Given the description of an element on the screen output the (x, y) to click on. 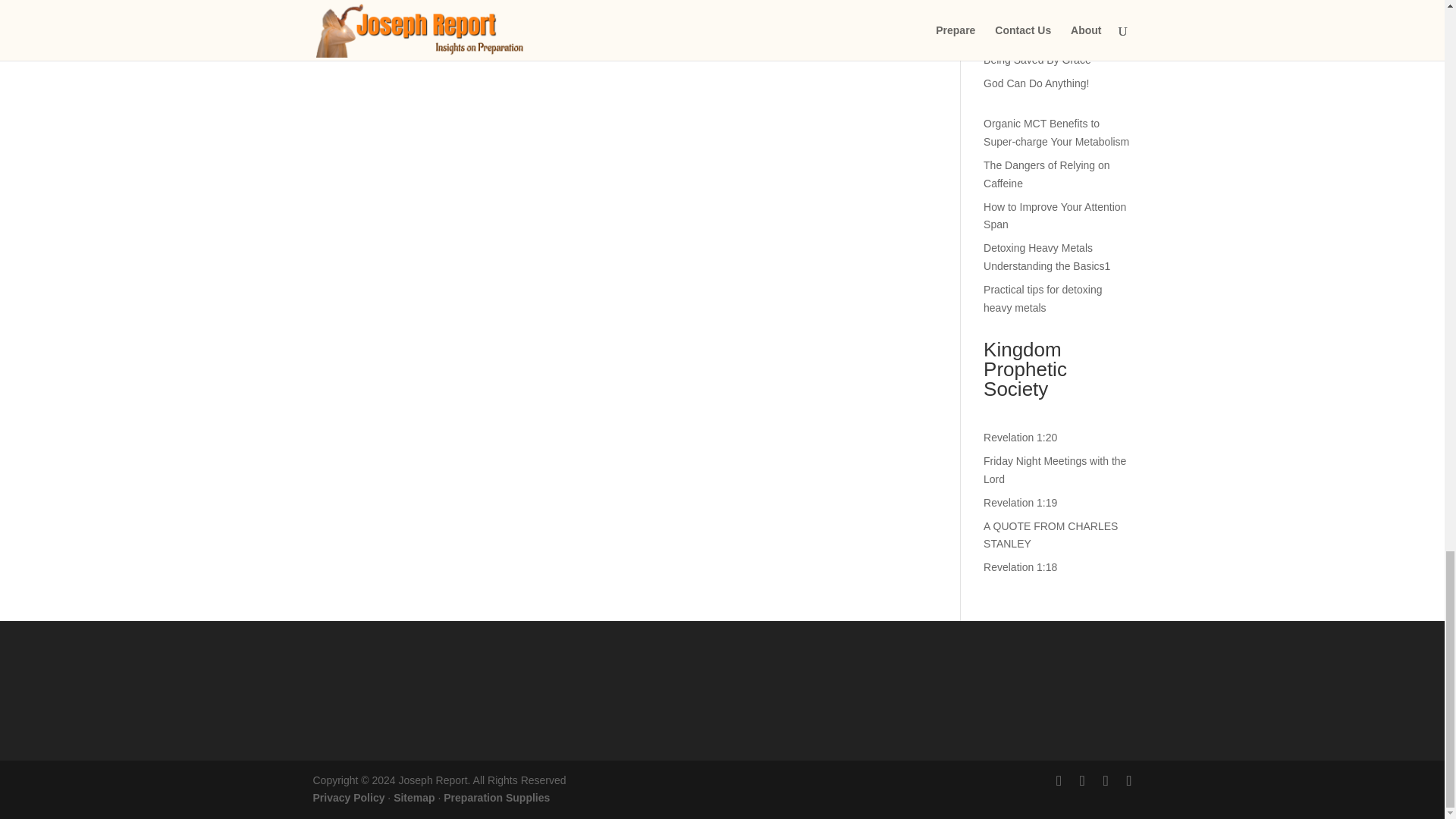
Denying Ungodliness (1033, 36)
God Can Do Anything! (1036, 82)
Did Grace or Faith come first? (1054, 12)
Organic MCT Benefits to Super-charge Your Metabolism (1056, 132)
Being Saved By Grace (1037, 60)
